Given the description of an element on the screen output the (x, y) to click on. 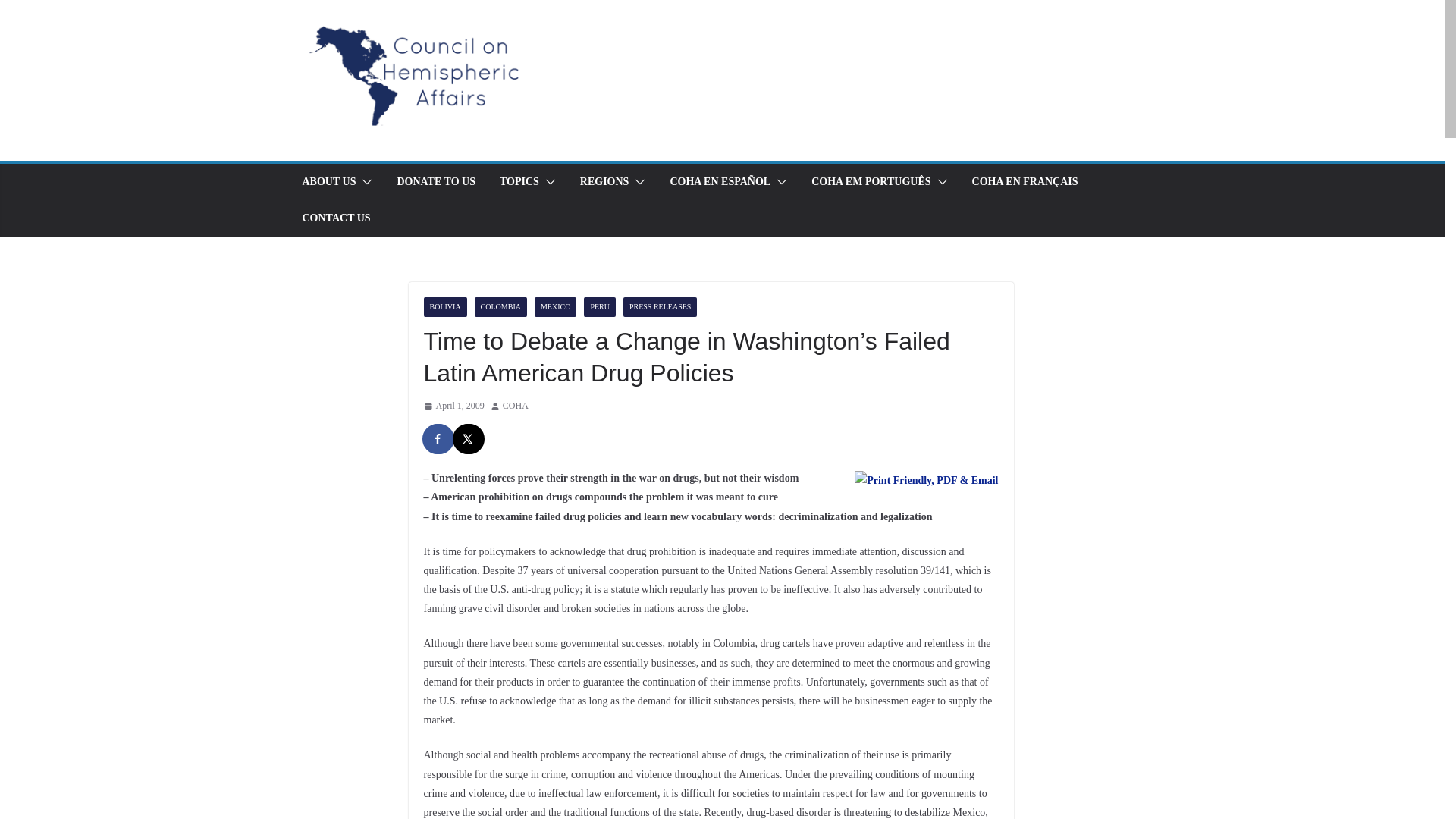
DONATE TO US (435, 181)
REGIONS (603, 181)
COHA (515, 406)
TOPICS (518, 181)
Share on Facebook (437, 439)
Share on X (467, 439)
1:04 pm (453, 406)
ABOUT US (328, 181)
